Given the description of an element on the screen output the (x, y) to click on. 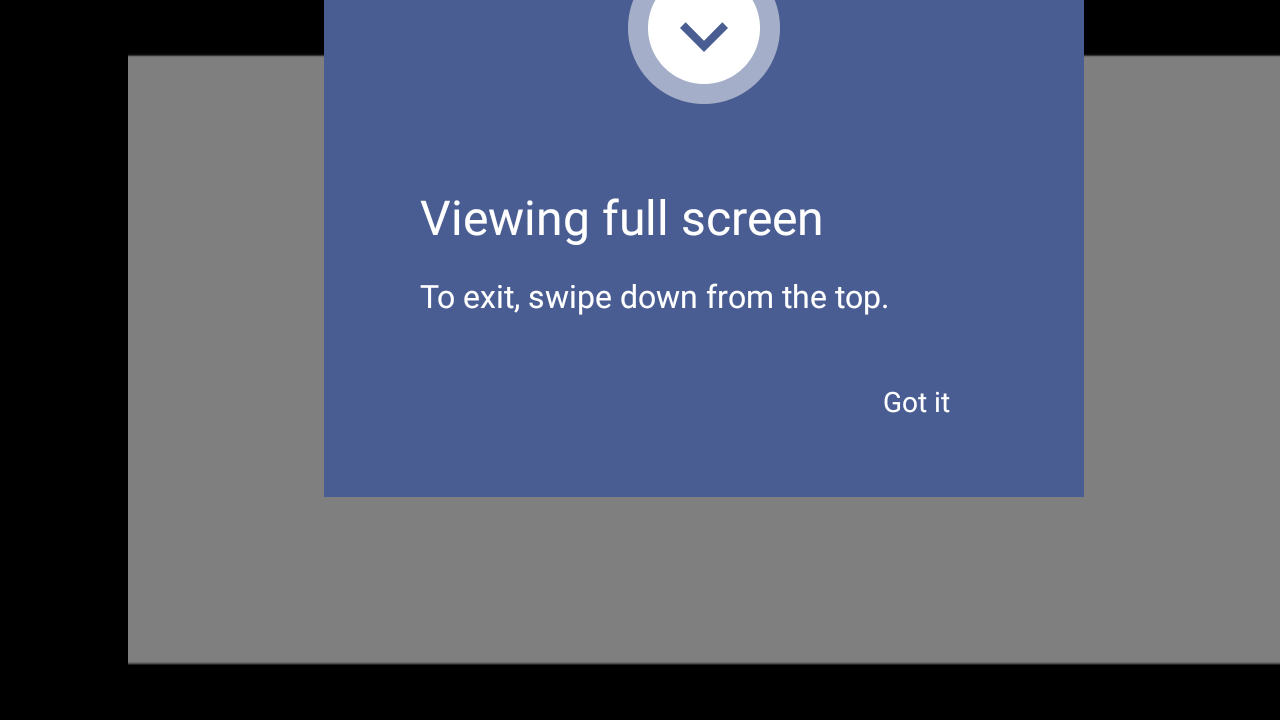
Got it (915, 400)
